Given the description of an element on the screen output the (x, y) to click on. 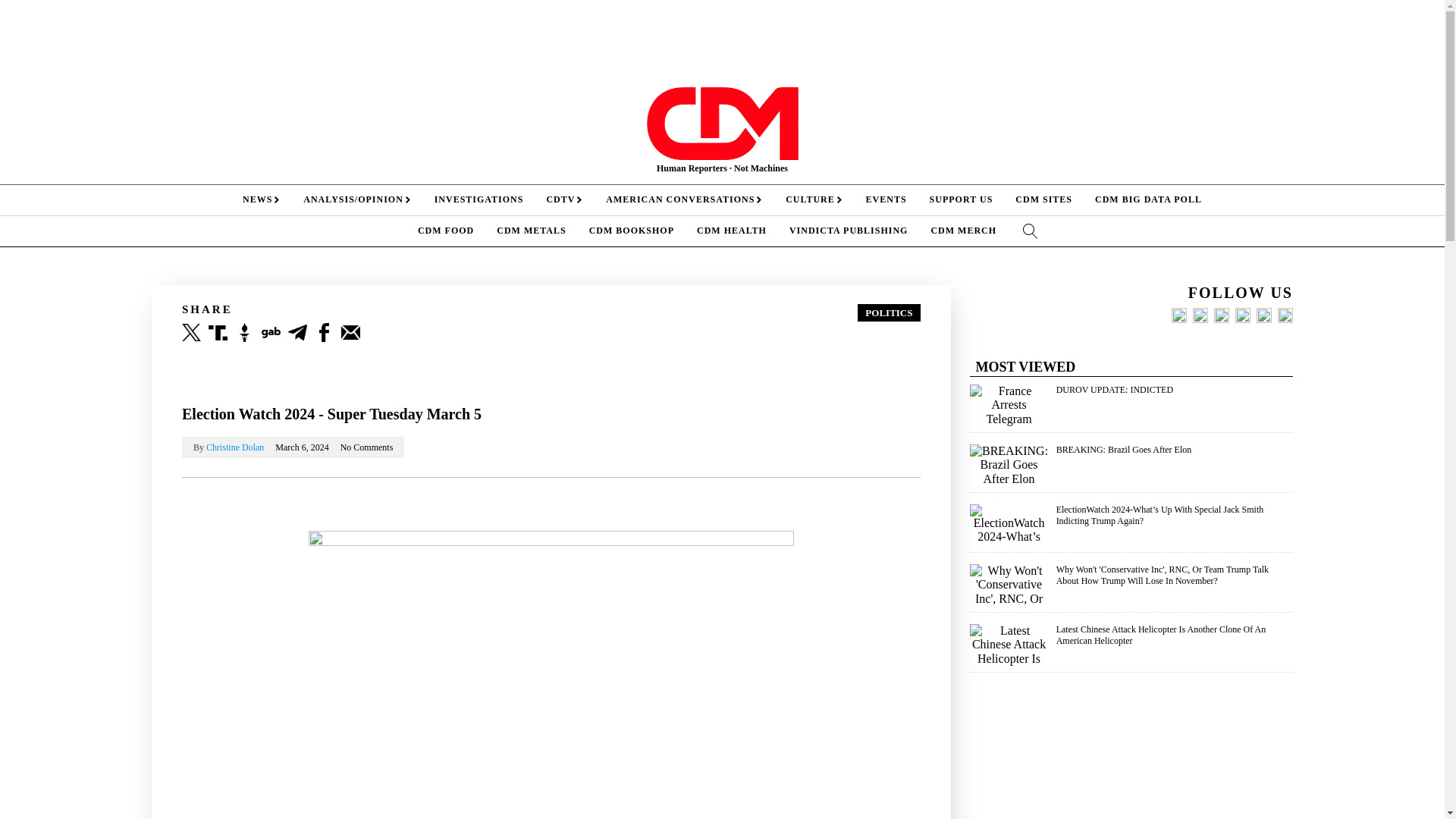
AMERICAN CONVERSATIONS (684, 200)
CDTV (564, 200)
NEWS (261, 200)
INVESTIGATIONS (479, 200)
